Given the description of an element on the screen output the (x, y) to click on. 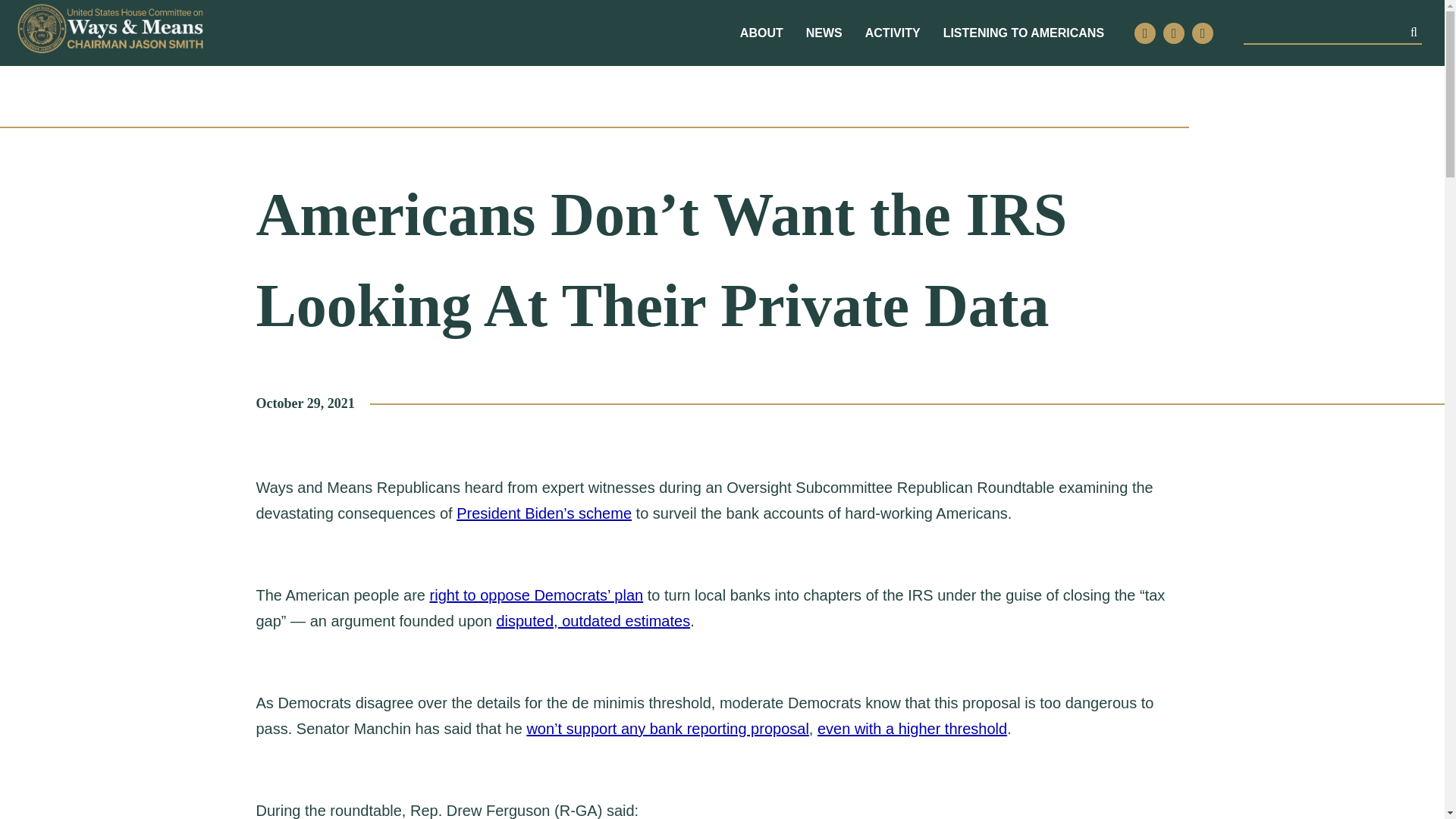
NEWS (824, 33)
ABOUT (761, 33)
LISTENING TO AMERICANS (1023, 33)
even with a higher threshold (911, 728)
ACTIVITY (892, 33)
Instagram (1174, 33)
Twitter (1145, 33)
disputed, outdated estimates (593, 620)
Youtube (1202, 33)
